Given the description of an element on the screen output the (x, y) to click on. 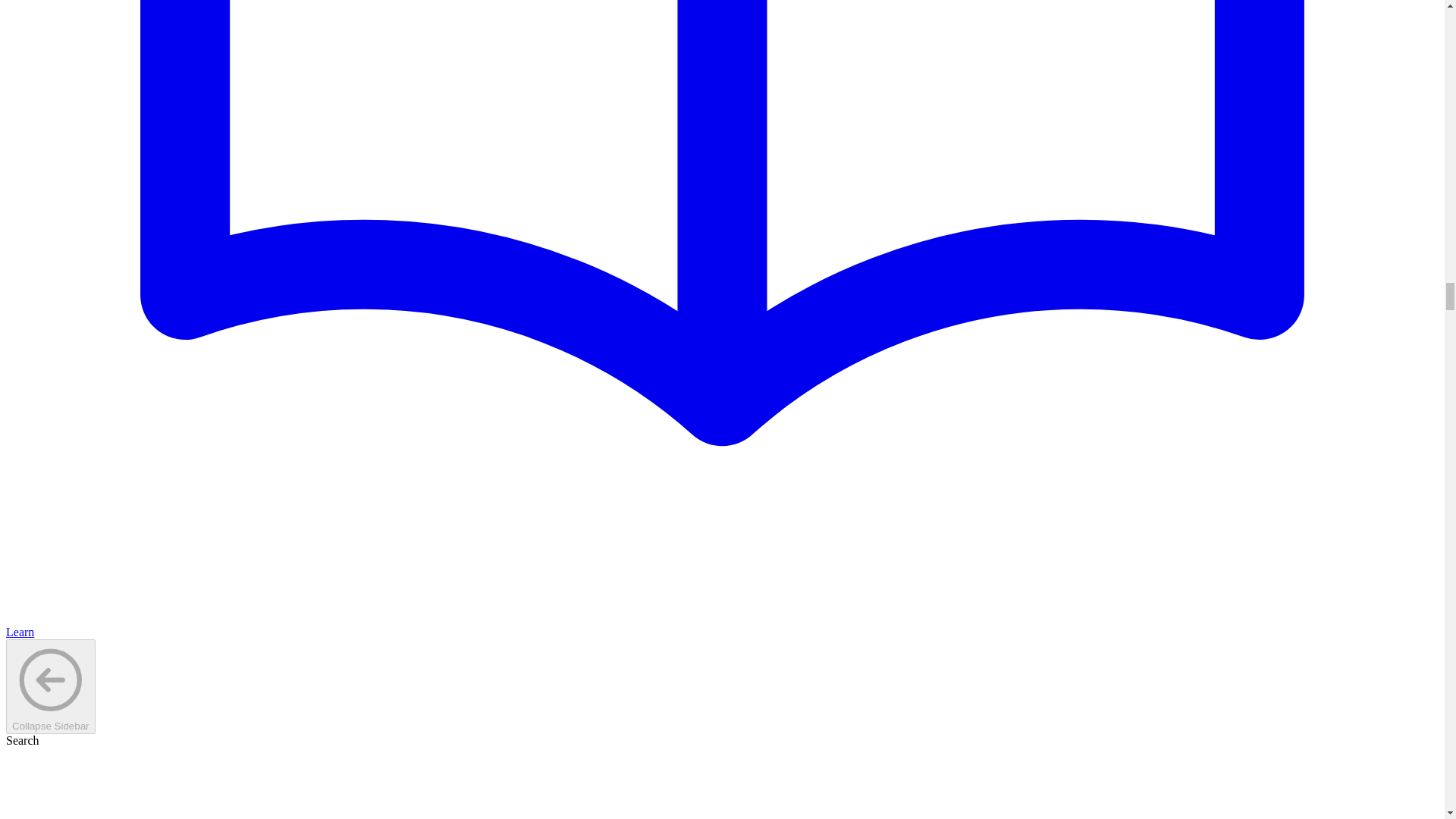
Collapse Sidebar (50, 686)
